Given the description of an element on the screen output the (x, y) to click on. 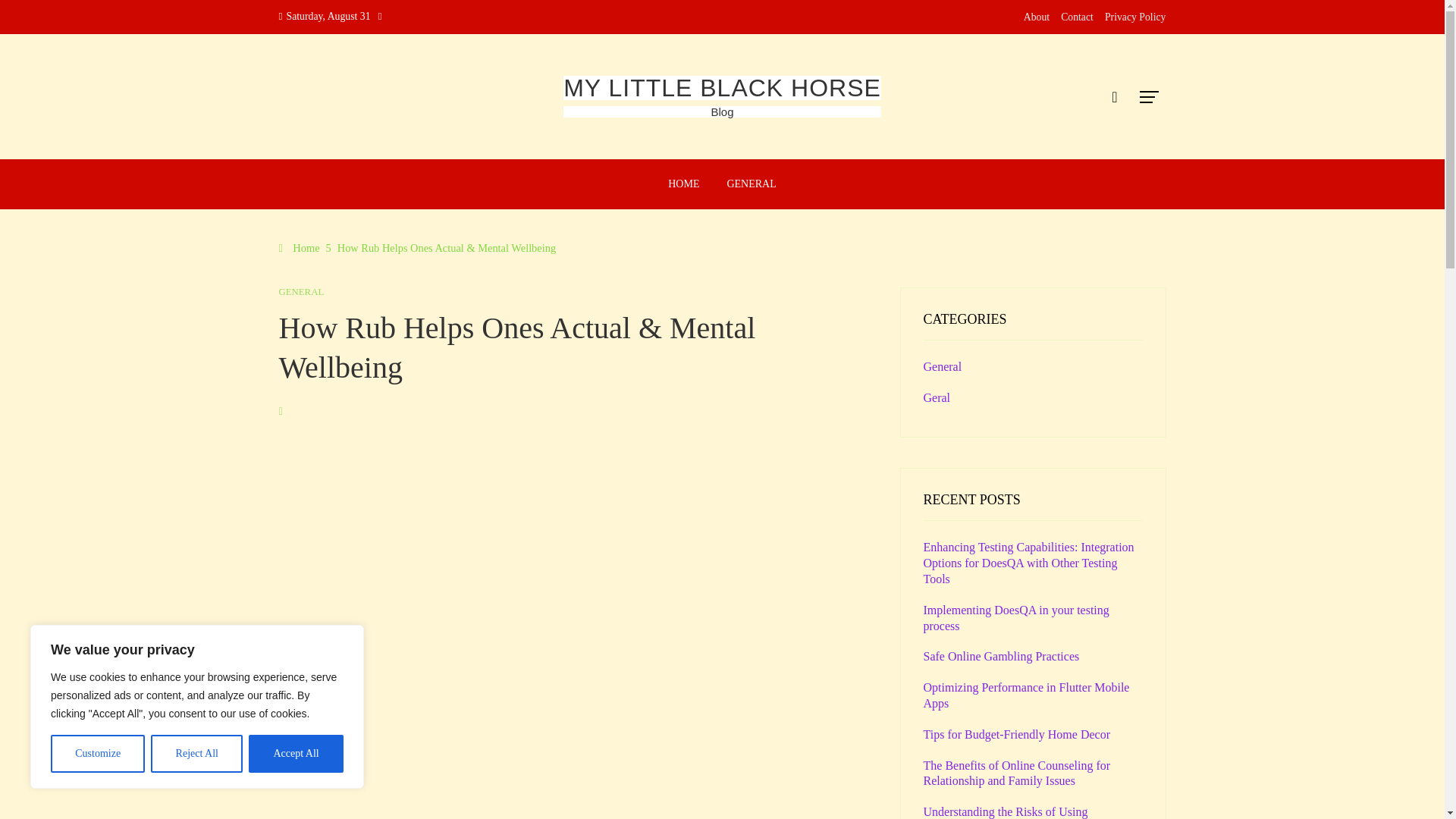
Geral (936, 397)
GENERAL (301, 292)
Contact (1077, 17)
HOME (683, 183)
Home (299, 247)
Privacy Policy (1135, 17)
Accept All (295, 753)
GENERAL (750, 183)
MY LITTLE BLACK HORSE (721, 87)
